Given the description of an element on the screen output the (x, y) to click on. 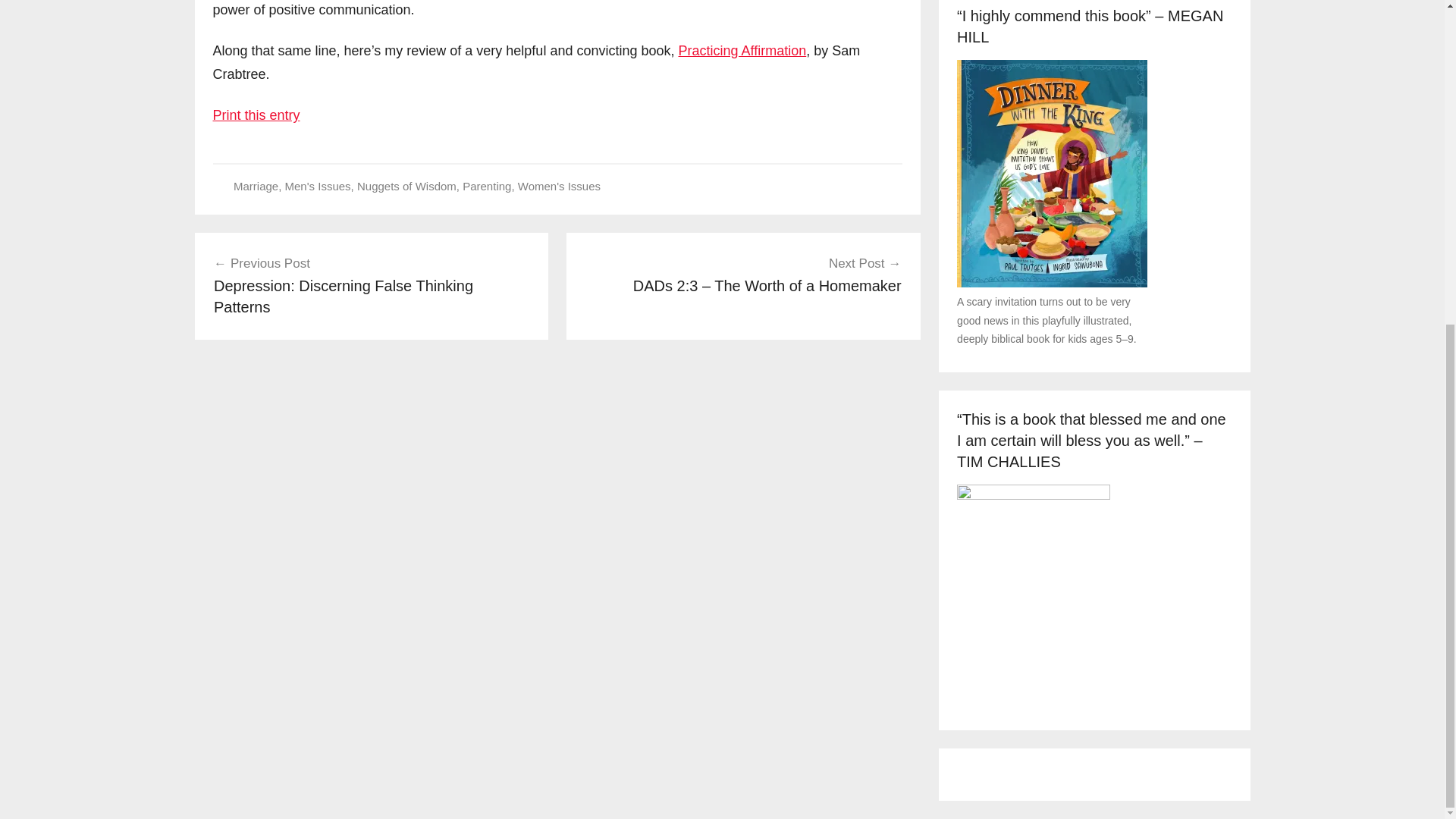
Print this entry (255, 114)
Nuggets of Wisdom (406, 185)
Parenting (487, 185)
Men's Issues (317, 185)
Women's Issues (558, 185)
Marriage (255, 185)
Practicing Affirmation (742, 50)
